Given the description of an element on the screen output the (x, y) to click on. 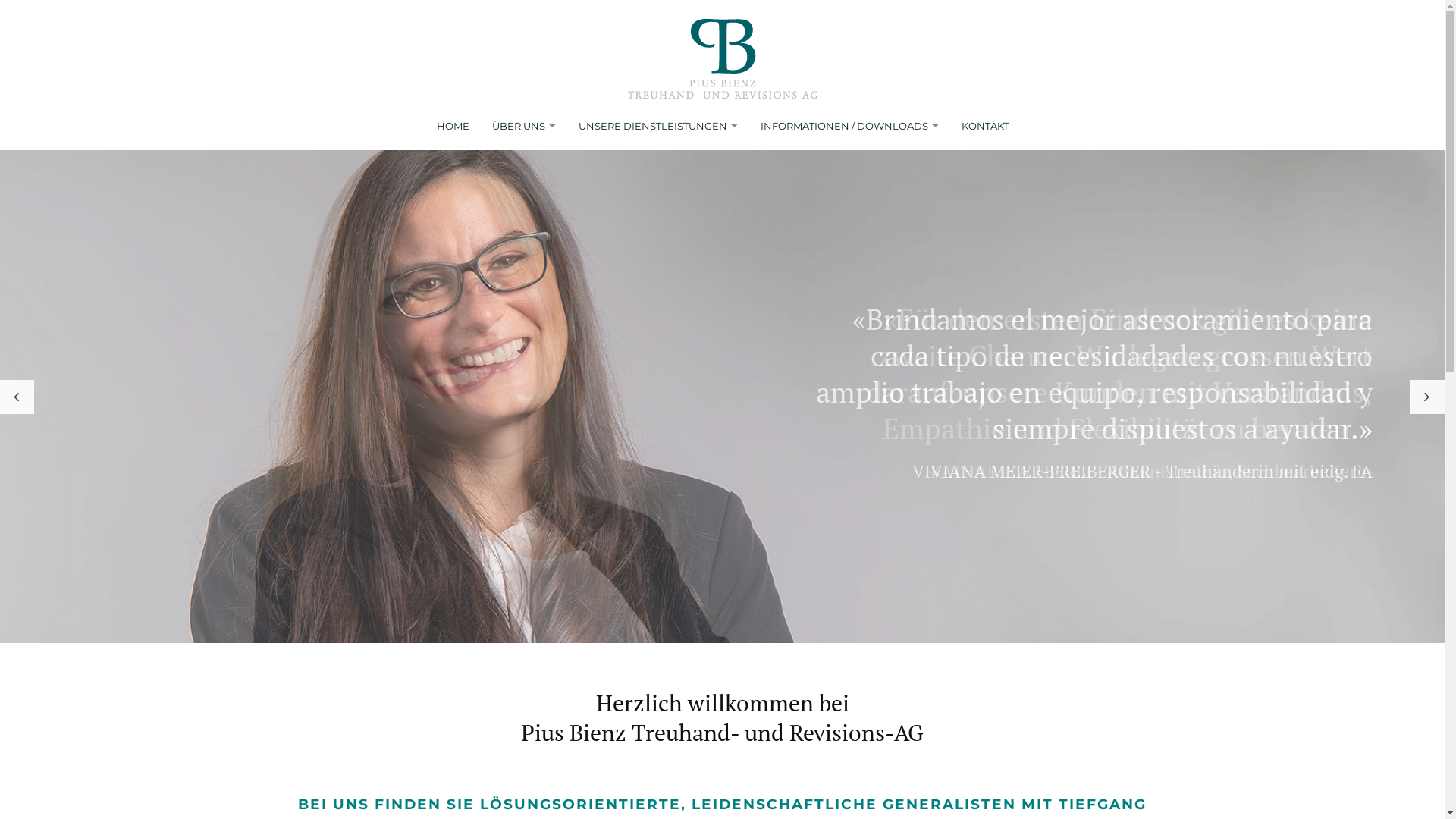
INFORMATIONEN / DOWNLOADS Element type: text (843, 125)
KONTAKT Element type: text (984, 125)
UNSERE DIENSTLEISTUNGEN Element type: text (651, 125)
HOME Element type: text (452, 125)
